Given the description of an element on the screen output the (x, y) to click on. 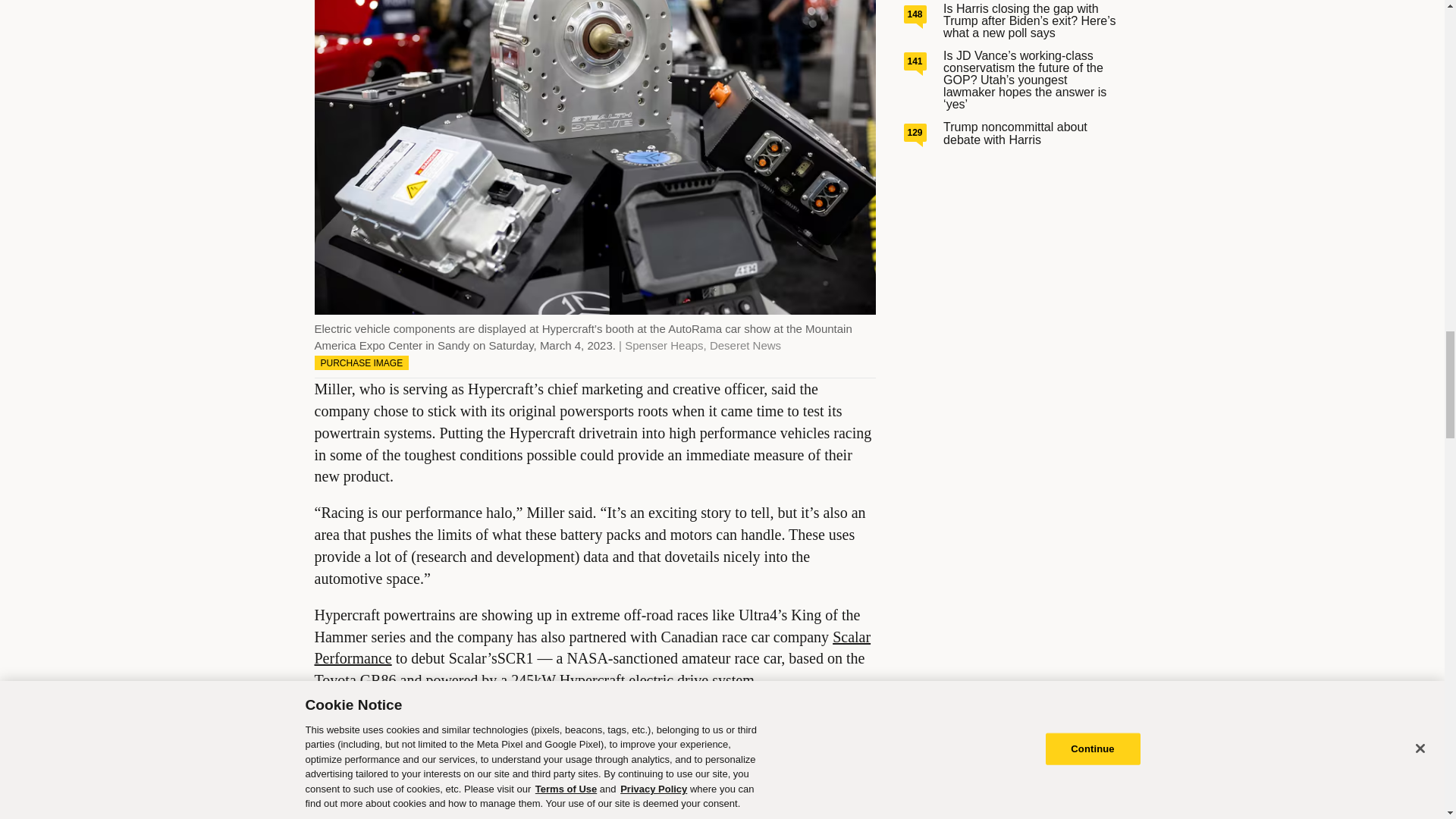
Scalar Performance (592, 647)
PURCHASE IMAGE (361, 362)
